Given the description of an element on the screen output the (x, y) to click on. 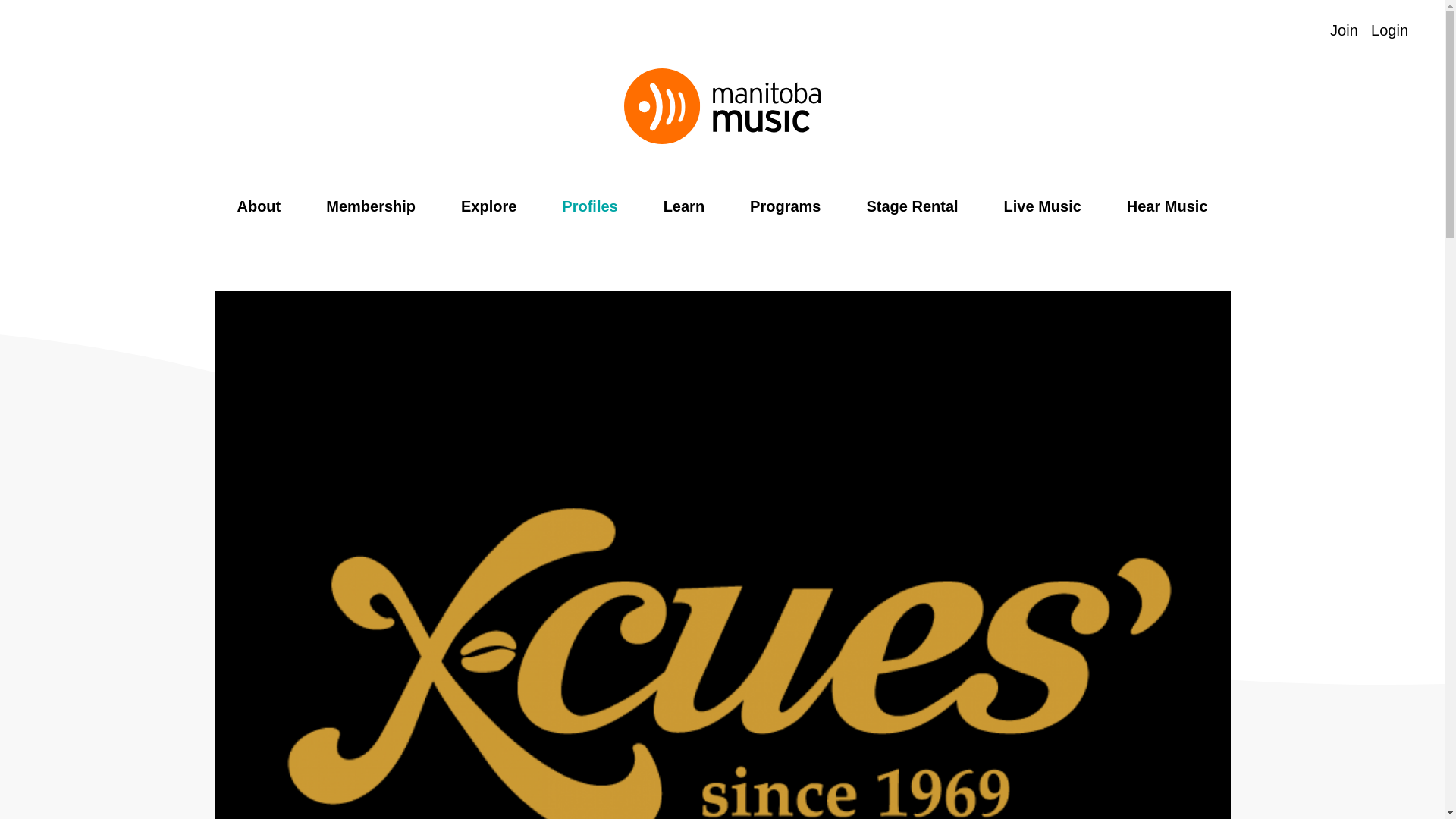
Contact (215, 31)
Like us on Facebook (70, 31)
RSS (185, 31)
Contact Us via email (215, 31)
Membership (370, 205)
Join (1343, 30)
Visit Indigenous Music (1308, 30)
Explore our Playlist on Spotify (1279, 30)
Search Manitoba Music (1248, 30)
Login in as a Manitoba Music Member (1389, 30)
